Given the description of an element on the screen output the (x, y) to click on. 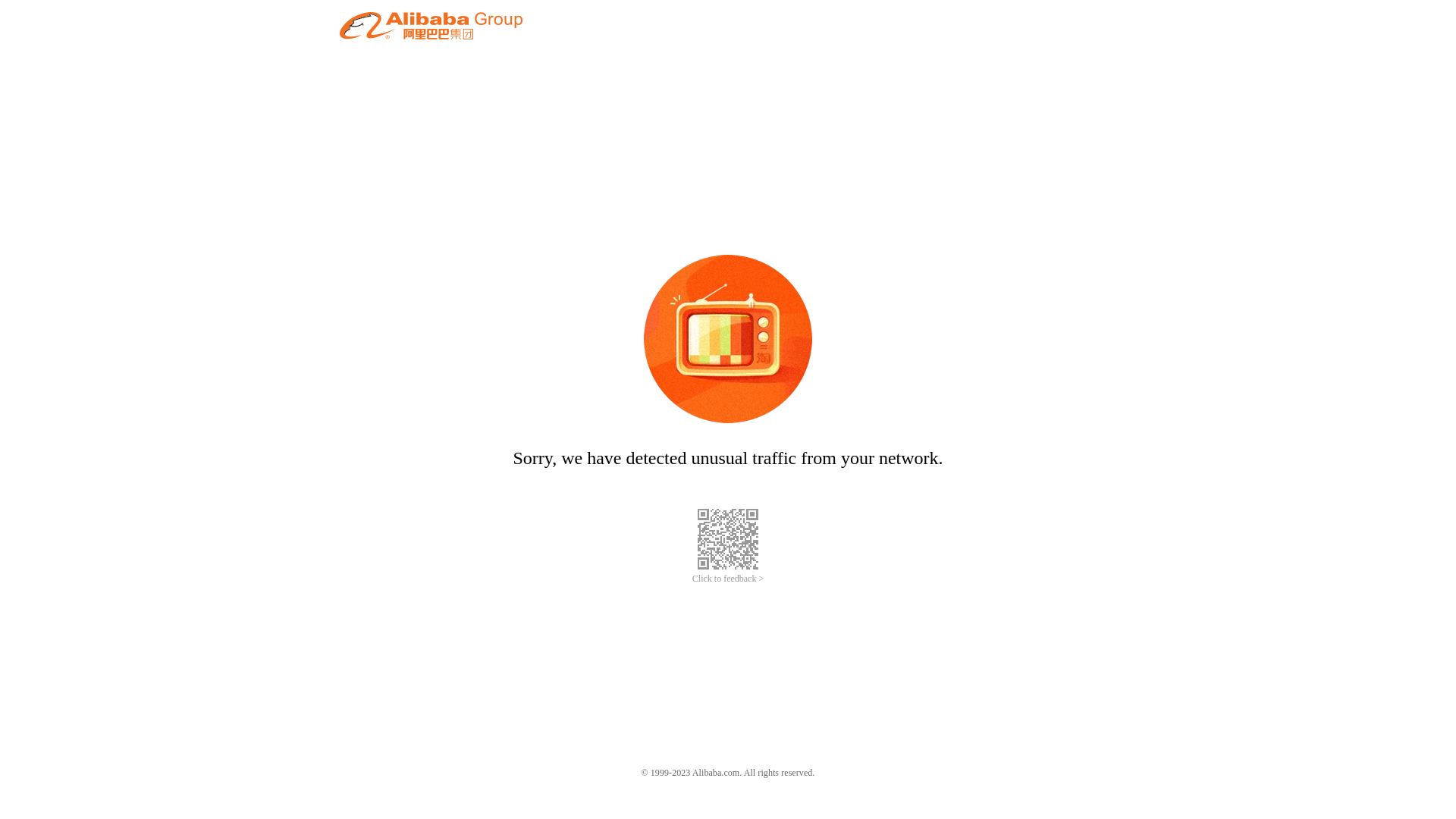
Click to feedback > Element type: text (727, 578)
